Given the description of an element on the screen output the (x, y) to click on. 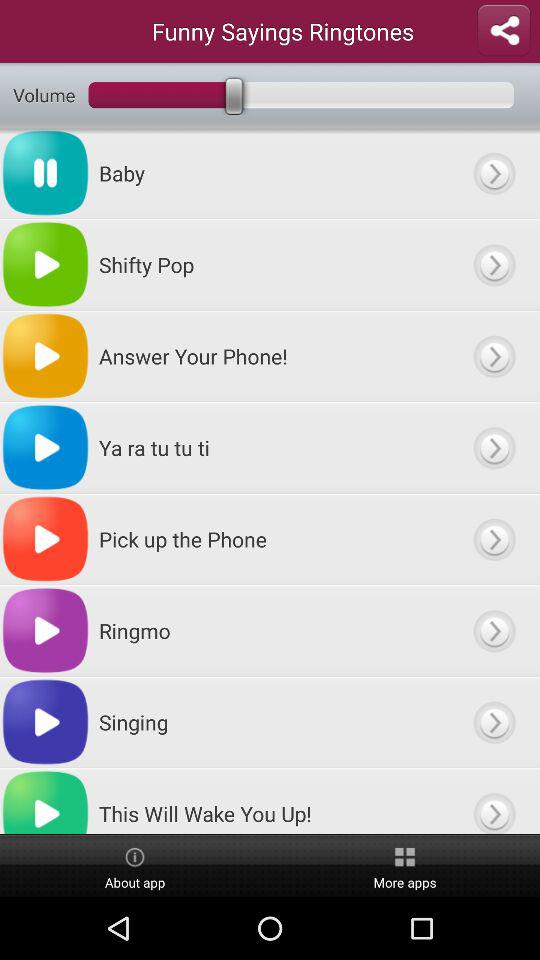
ringtones finder (494, 447)
